Given the description of an element on the screen output the (x, y) to click on. 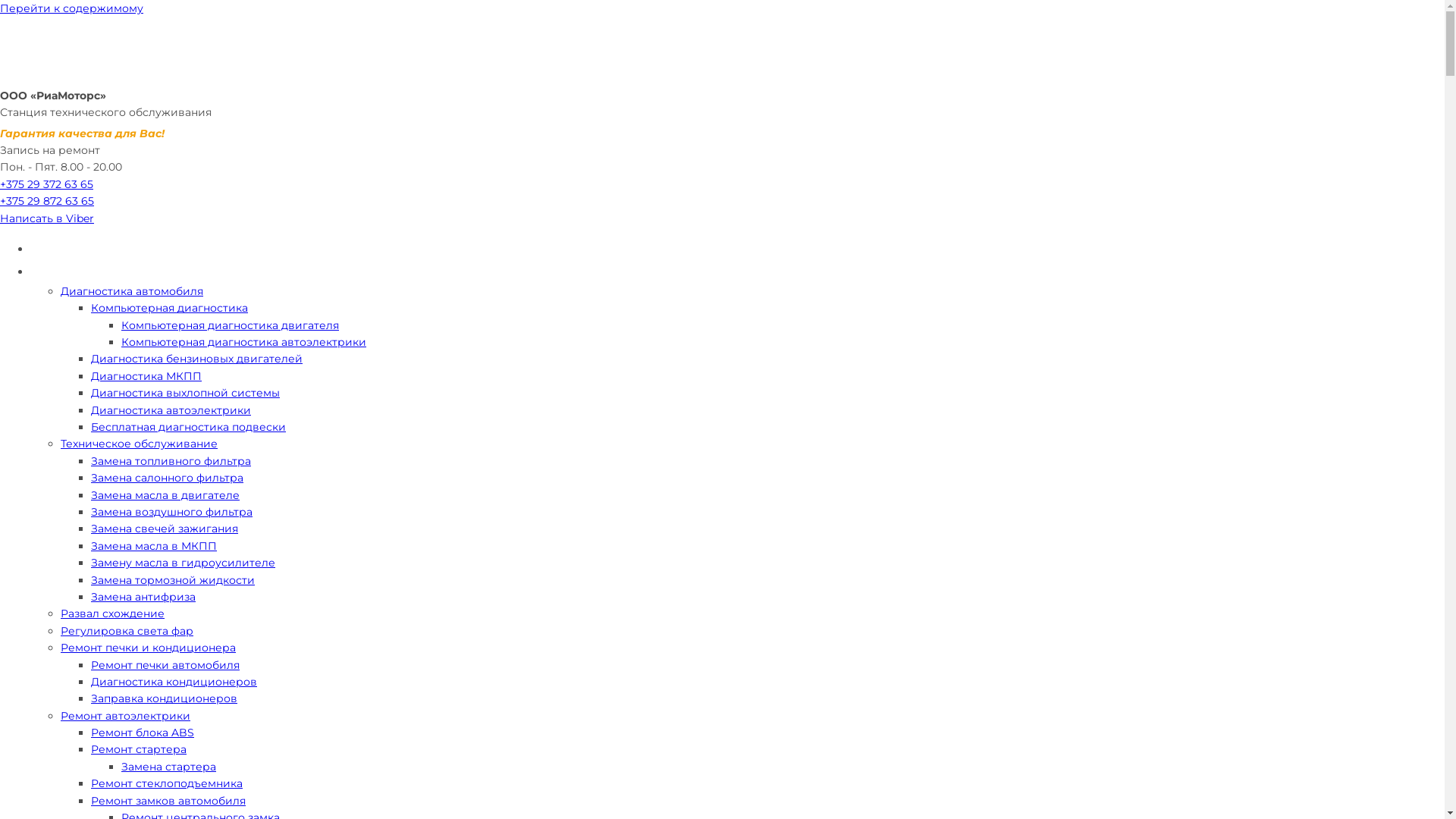
+375 29 872 63 65 Element type: text (47, 200)
+375 29 372 63 65 Element type: text (46, 184)
